Given the description of an element on the screen output the (x, y) to click on. 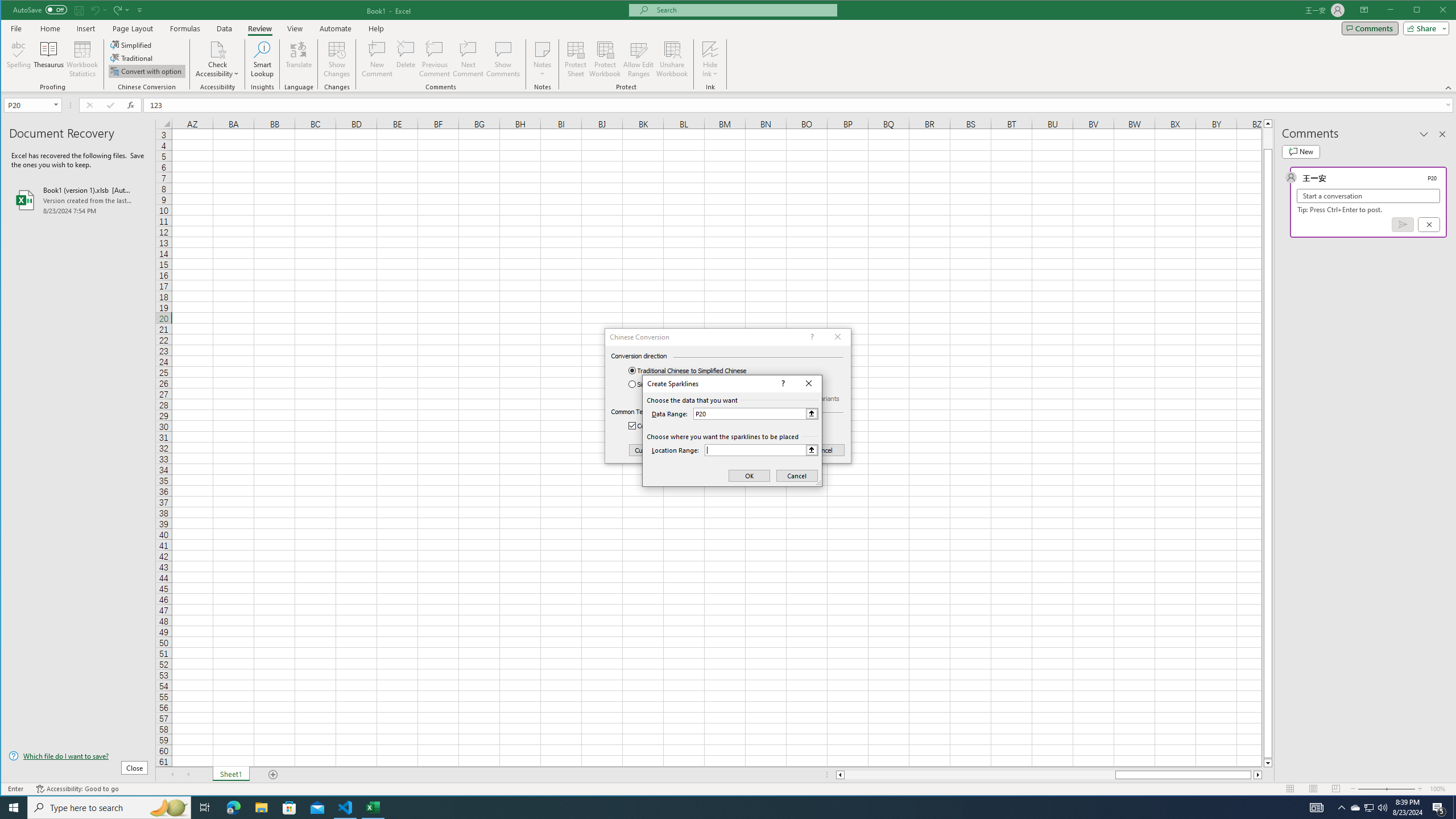
Protect Workbook... (604, 59)
Cancel (797, 475)
Protect Sheet... (575, 59)
OK (749, 475)
Thesaurus... (48, 59)
Visual Studio Code - 1 running window (345, 807)
Maximize (1432, 11)
Search highlights icon opens search home window (167, 807)
Traditional (132, 57)
Convert with option (146, 70)
